Given the description of an element on the screen output the (x, y) to click on. 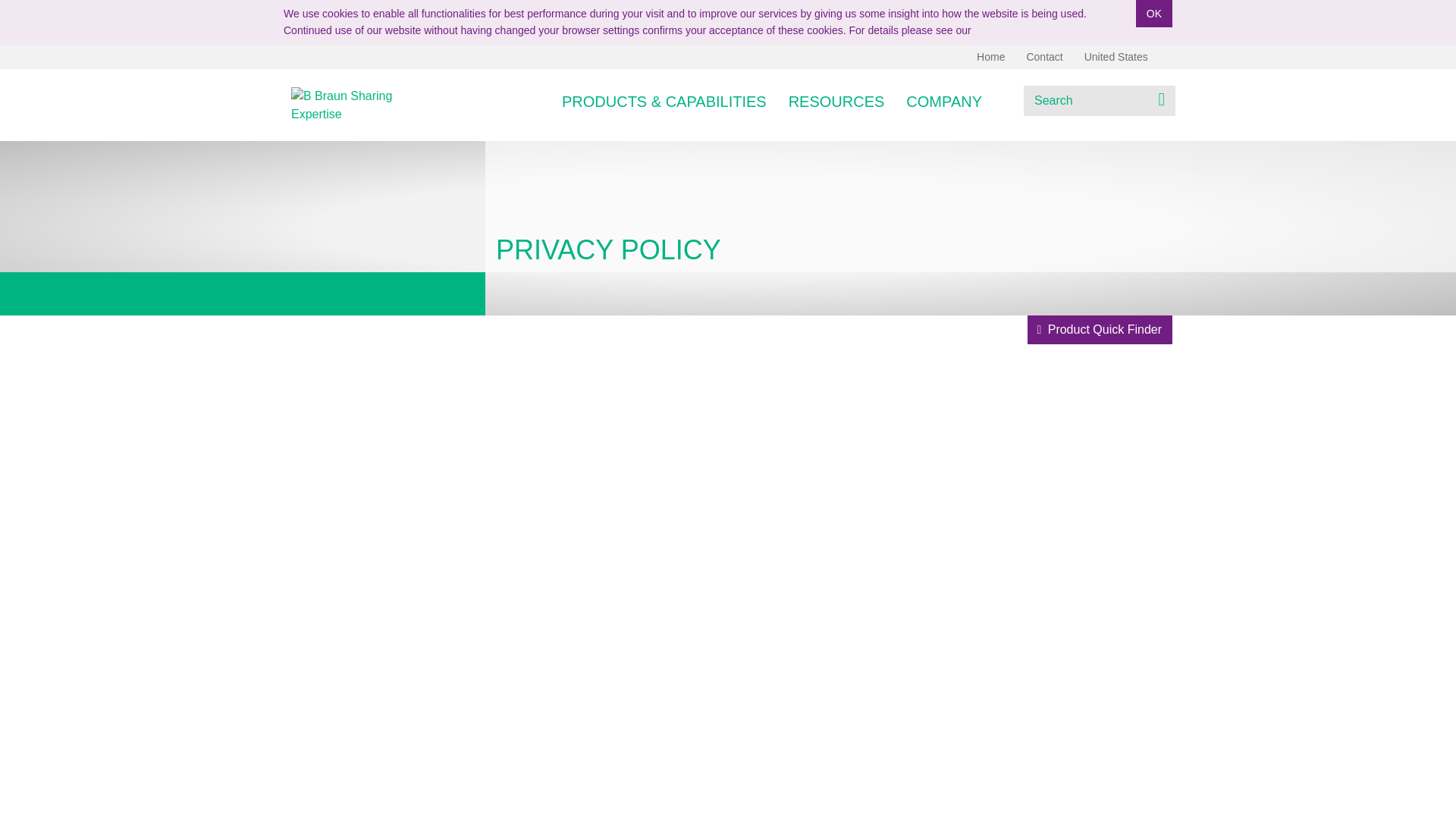
United States (1128, 56)
Send search (1161, 99)
RESOURCES (836, 100)
United States (1128, 56)
Product Quick Finder (1099, 329)
Contact (1043, 56)
Home (990, 56)
OK (1153, 13)
COMPANY (943, 100)
